Given the description of an element on the screen output the (x, y) to click on. 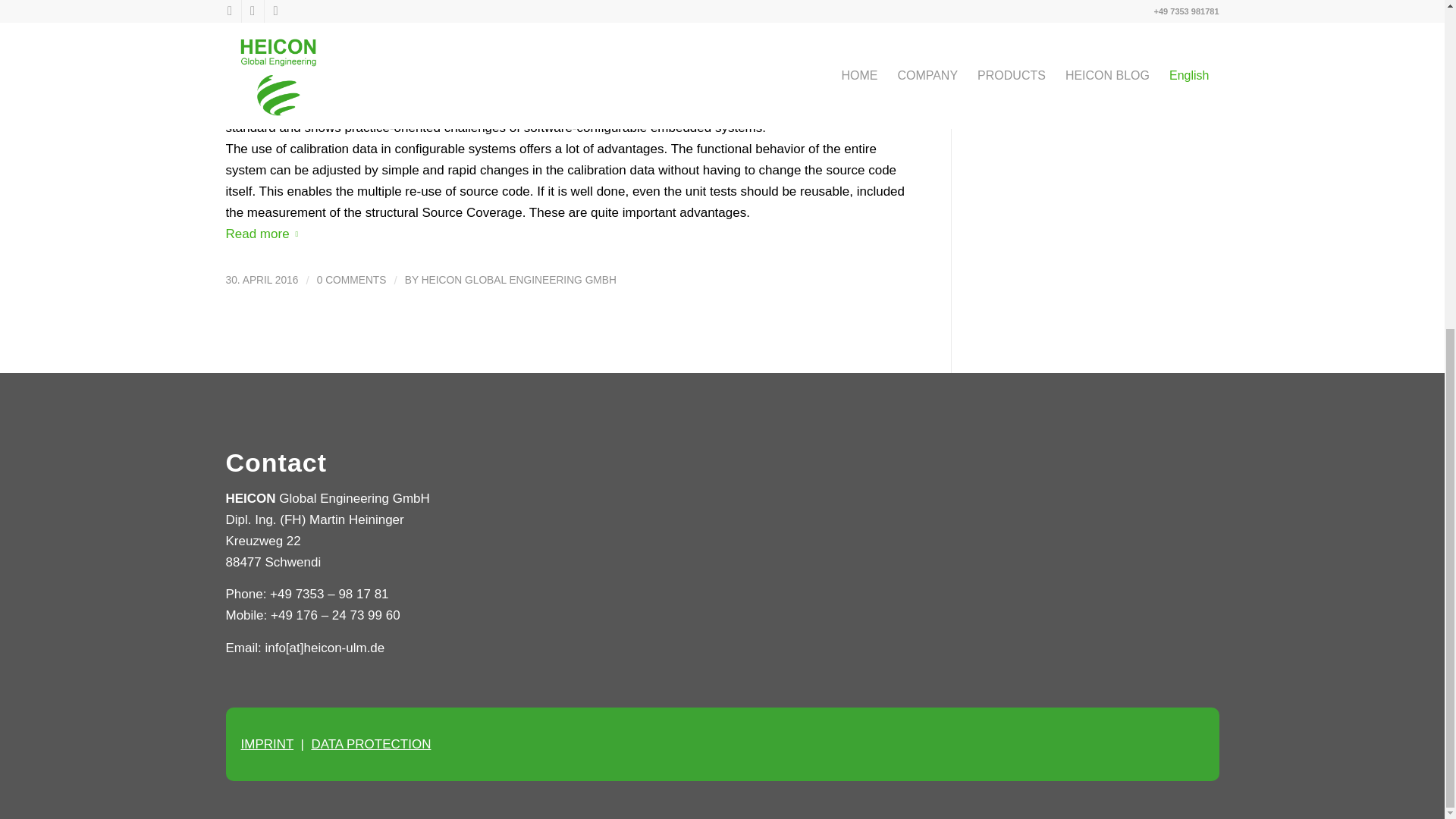
DATA PROTECTION (370, 744)
HEICON GLOBAL ENGINEERING GMBH (518, 279)
0 COMMENTS (352, 279)
IMPRINT (267, 744)
Posts by HEICON Global Engineering GmbH (518, 279)
Read more (264, 233)
